Given the description of an element on the screen output the (x, y) to click on. 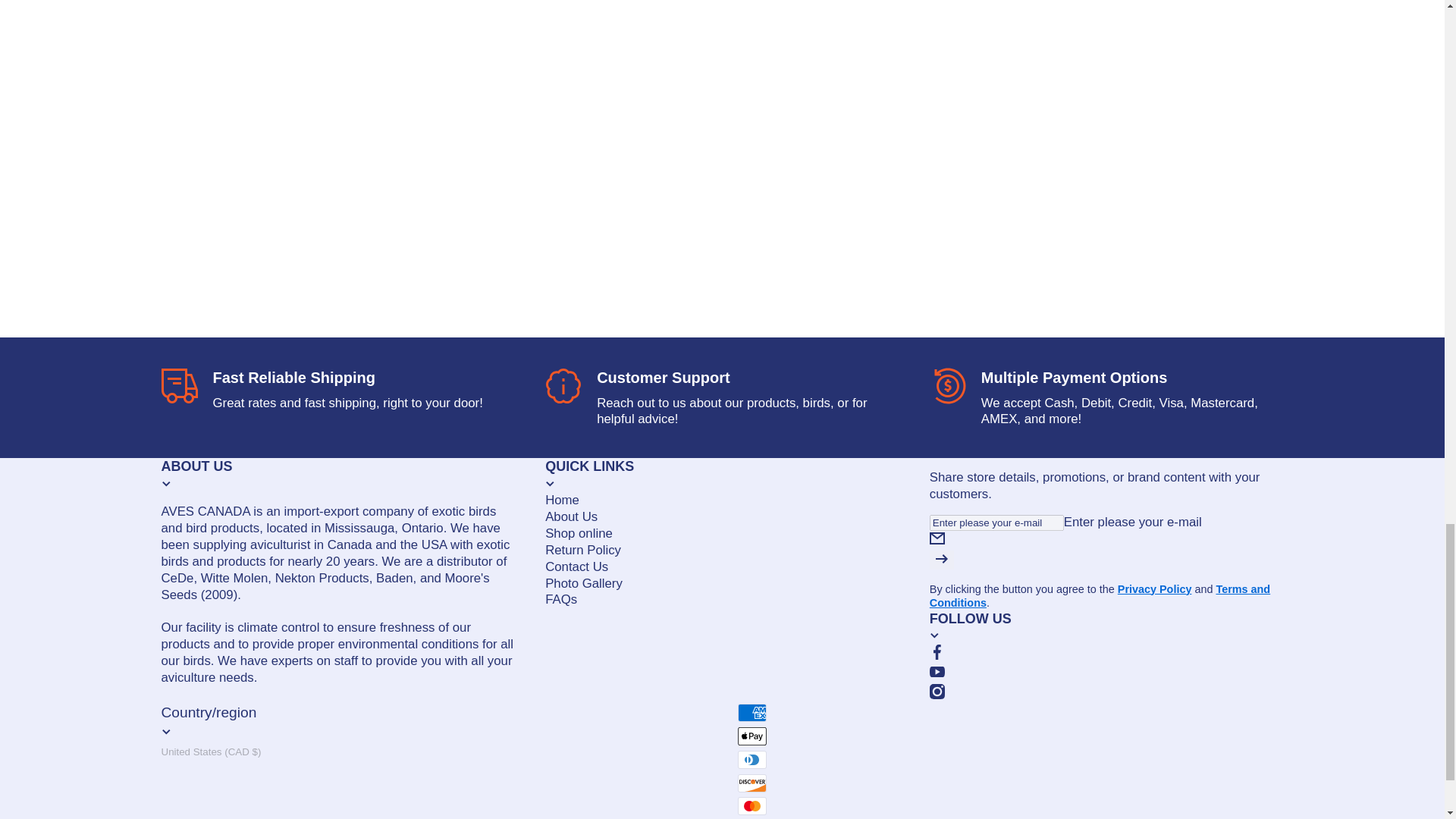
Diners Club (750, 760)
American Express (750, 712)
Apple Pay (750, 736)
Mastercard (750, 805)
Discover (750, 782)
